Given the description of an element on the screen output the (x, y) to click on. 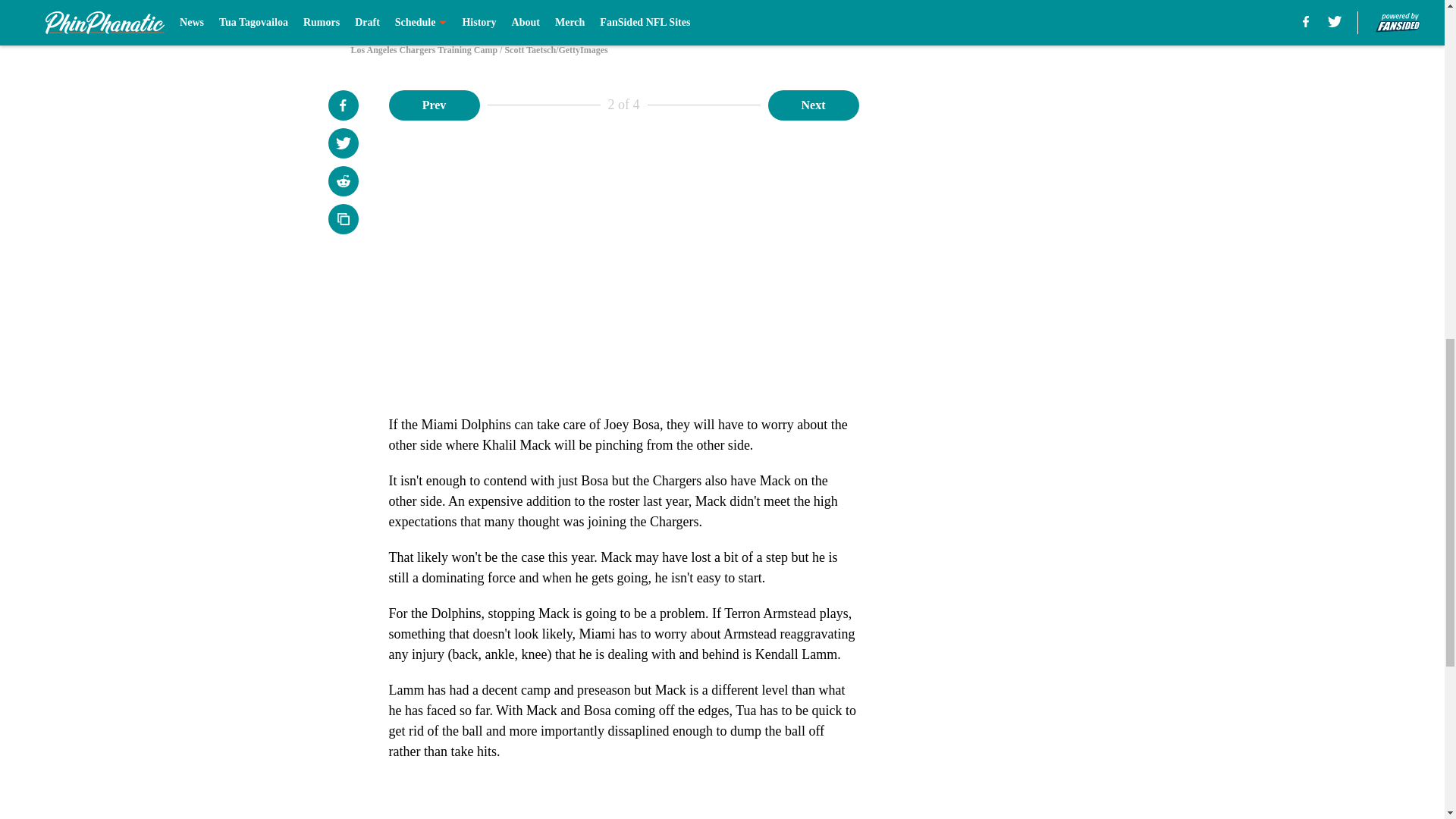
Prev (433, 104)
Los Angeles Chargers Training Camp (721, 14)
Next (813, 104)
